Given the description of an element on the screen output the (x, y) to click on. 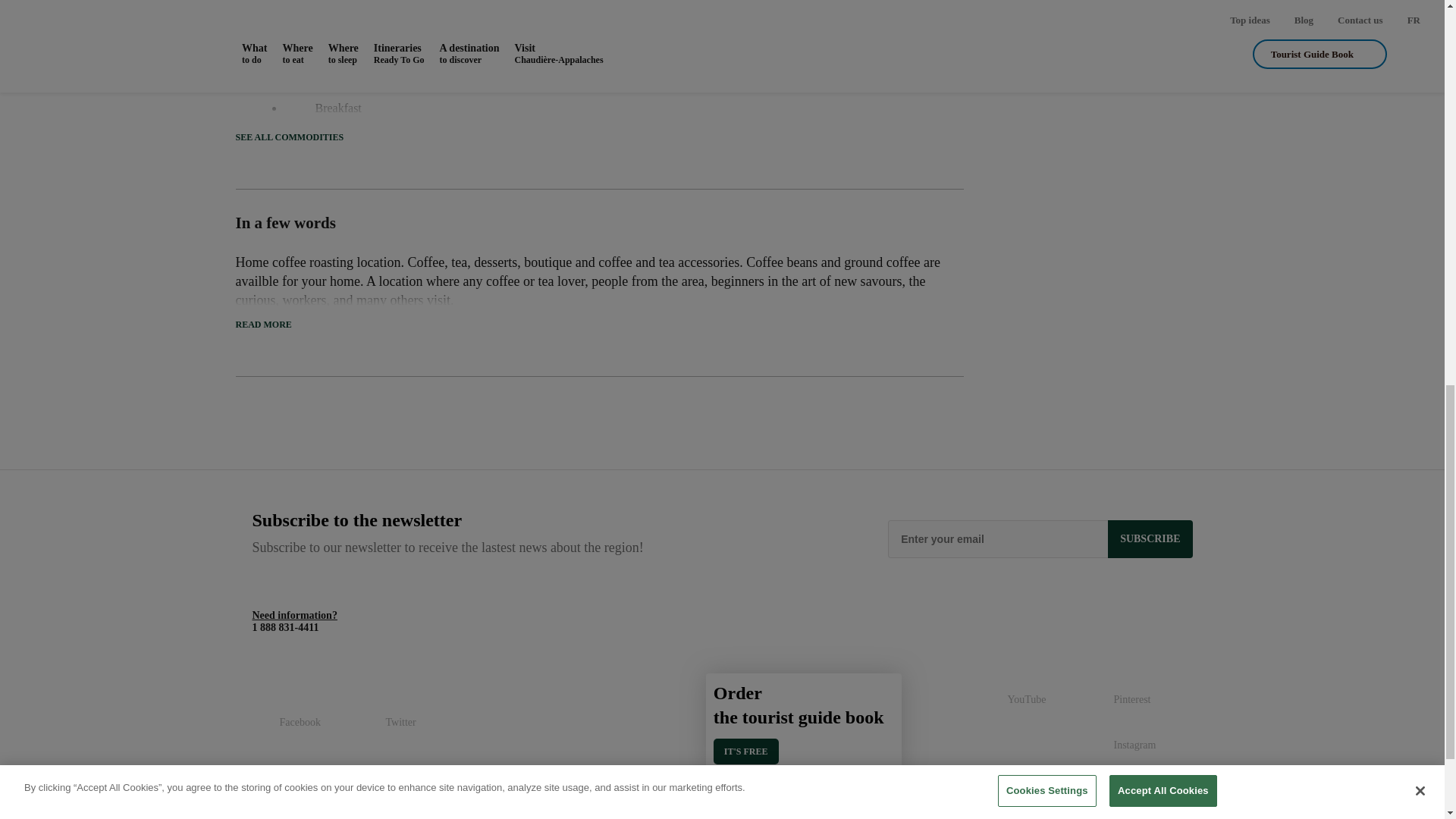
Subscribe (1150, 538)
